Given the description of an element on the screen output the (x, y) to click on. 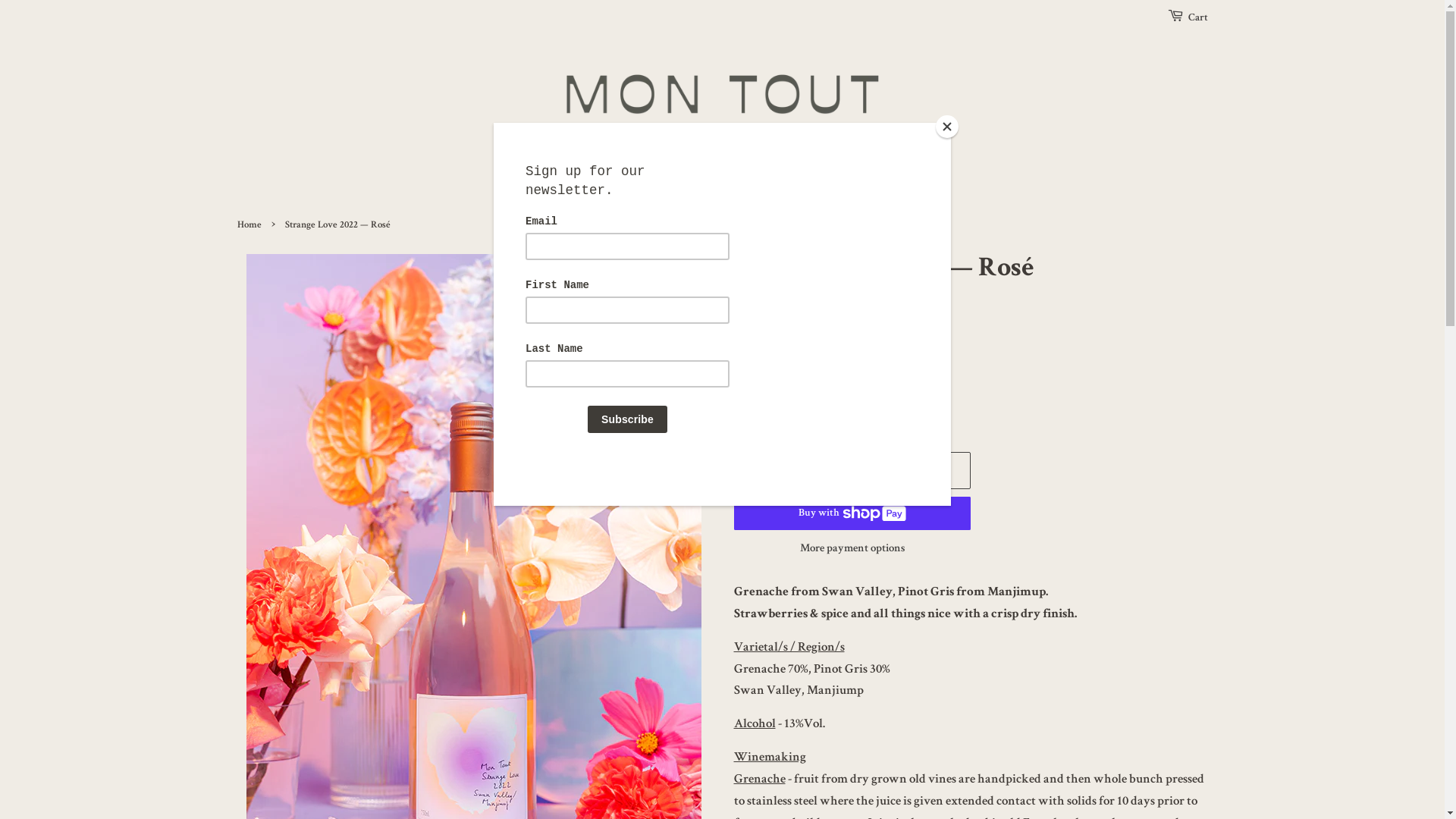
Cart Element type: text (1197, 18)
More payment options Element type: text (852, 548)
Add to Cart Element type: text (852, 470)
Home Element type: text (250, 225)
